Given the description of an element on the screen output the (x, y) to click on. 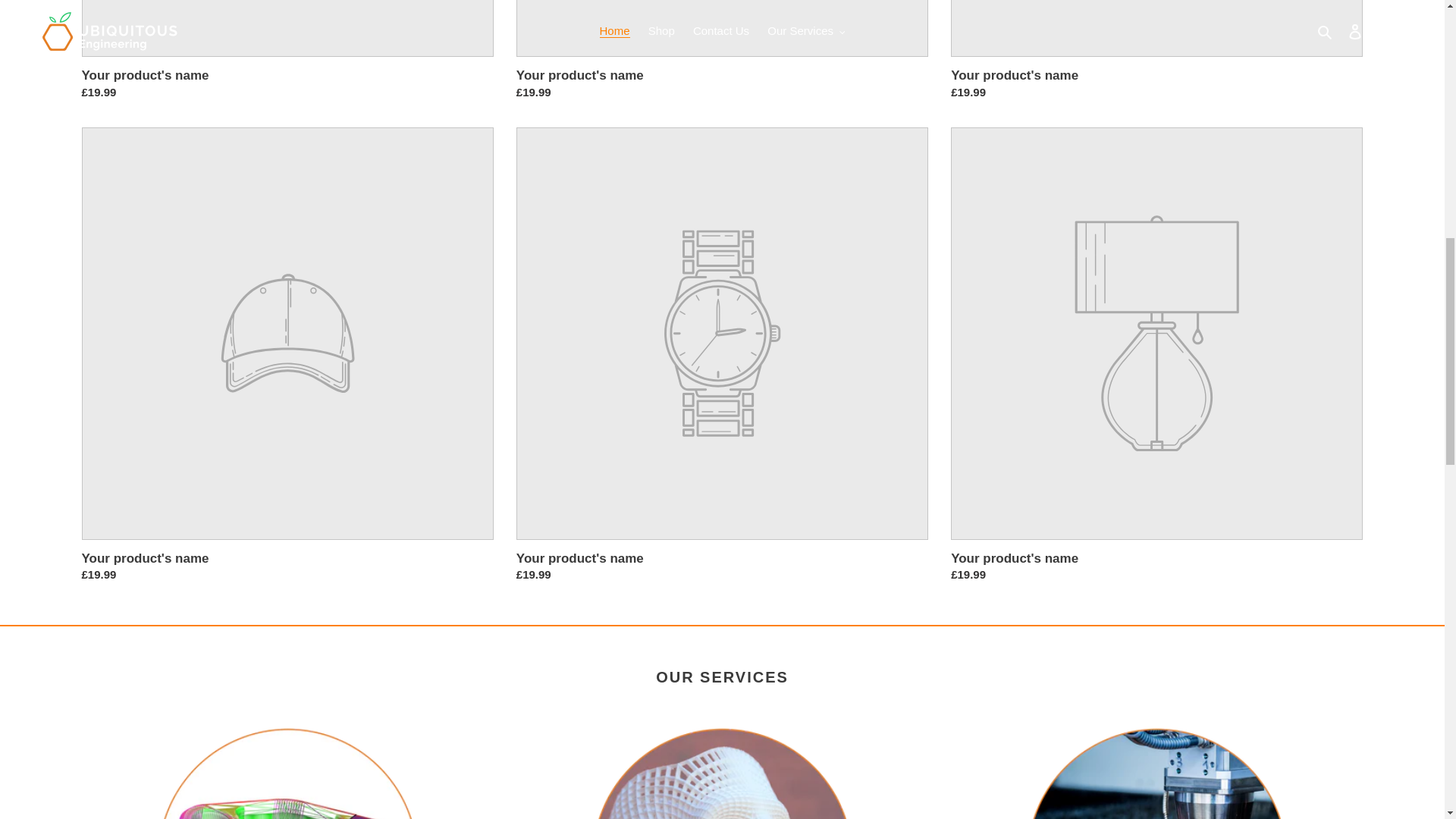
Your product's name (287, 50)
Your product's name (1156, 50)
Your product's name (722, 50)
